Given the description of an element on the screen output the (x, y) to click on. 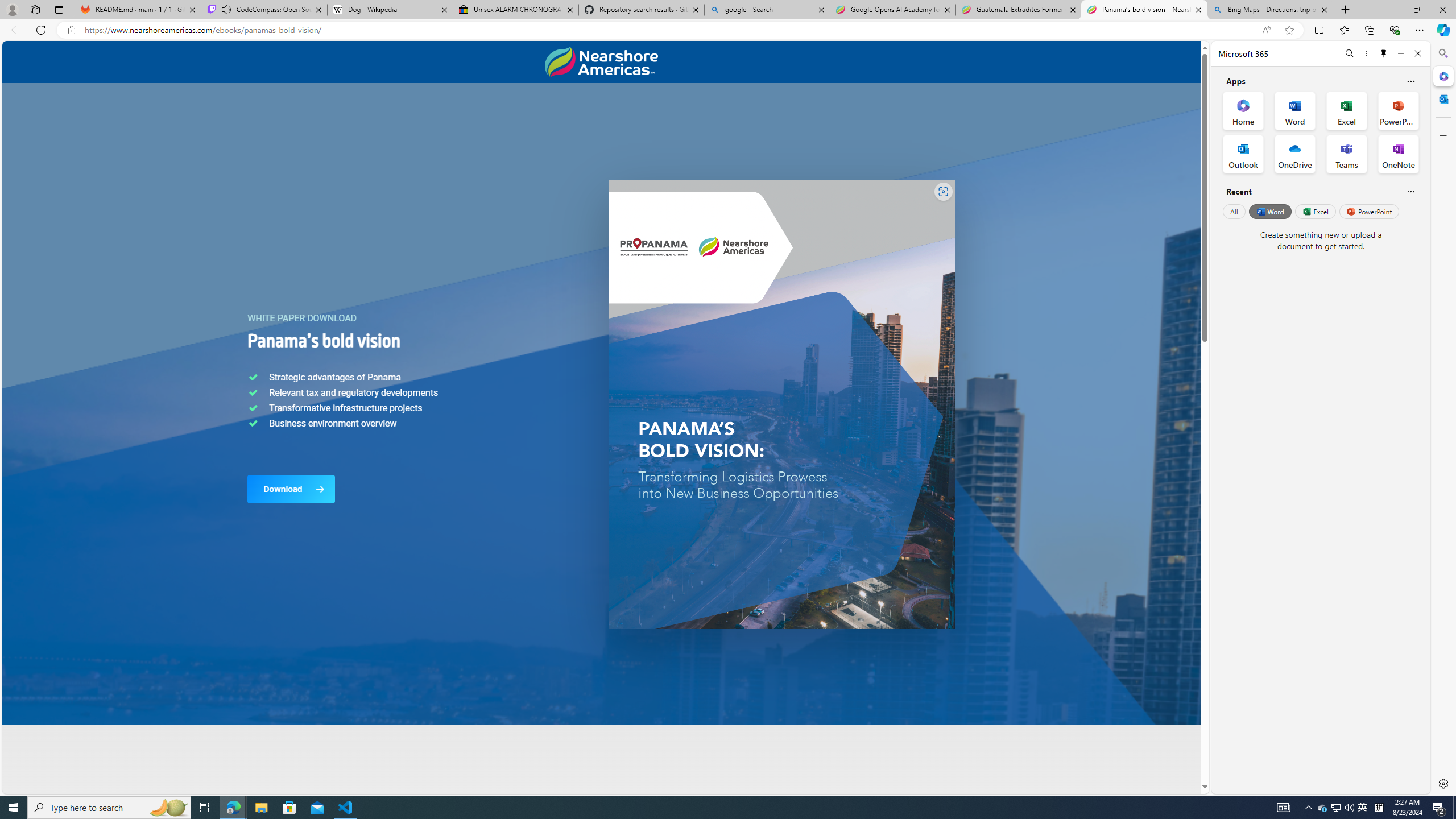
OneDrive Office App (1295, 154)
Home Office App (1243, 110)
Excel (1315, 210)
Dog - Wikipedia (389, 9)
